Given the description of an element on the screen output the (x, y) to click on. 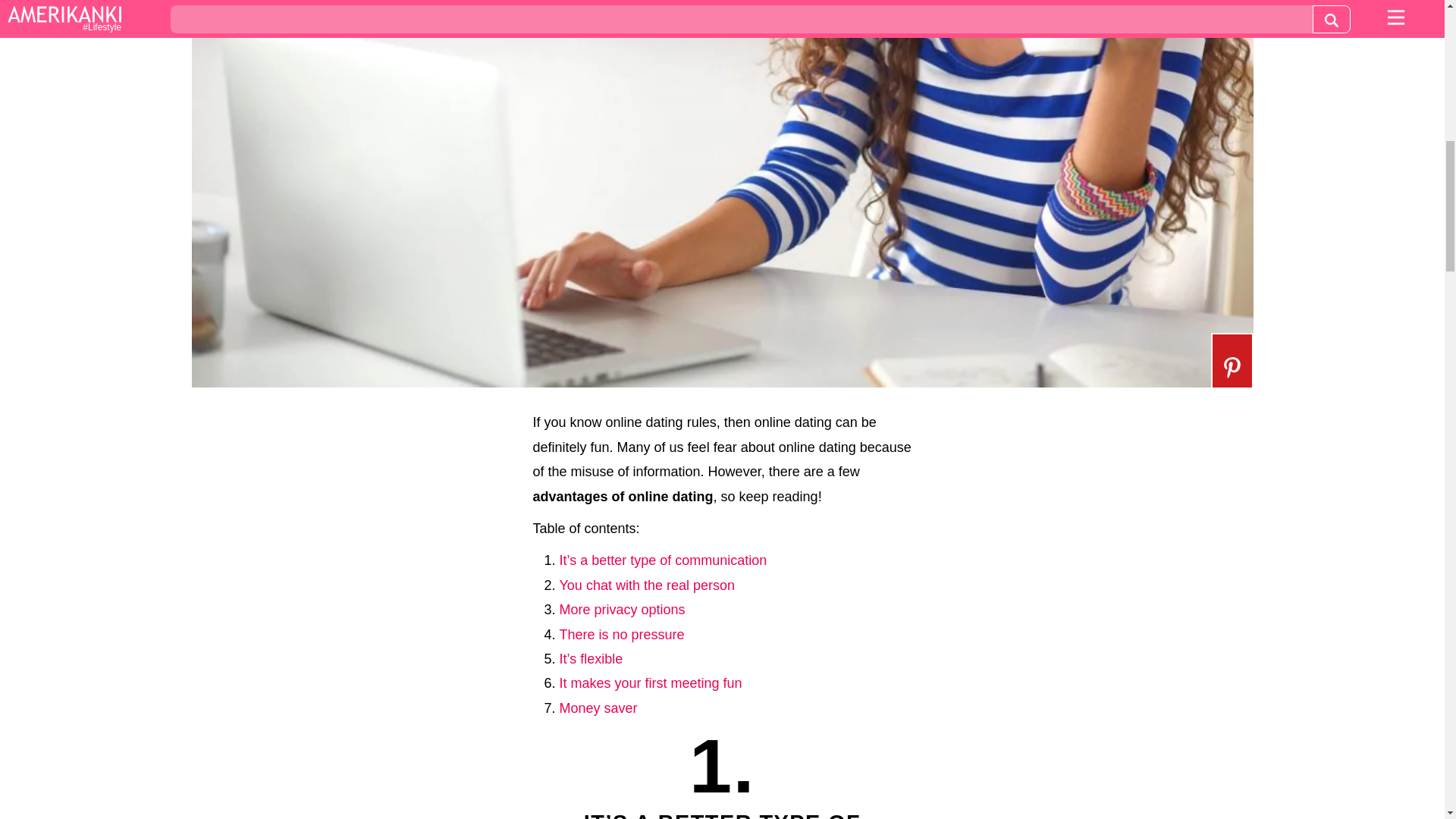
Money saver (598, 708)
It makes your first meeting fun (650, 683)
You chat with the real person (647, 585)
There is no pressure (621, 634)
More privacy options (622, 609)
